Given the description of an element on the screen output the (x, y) to click on. 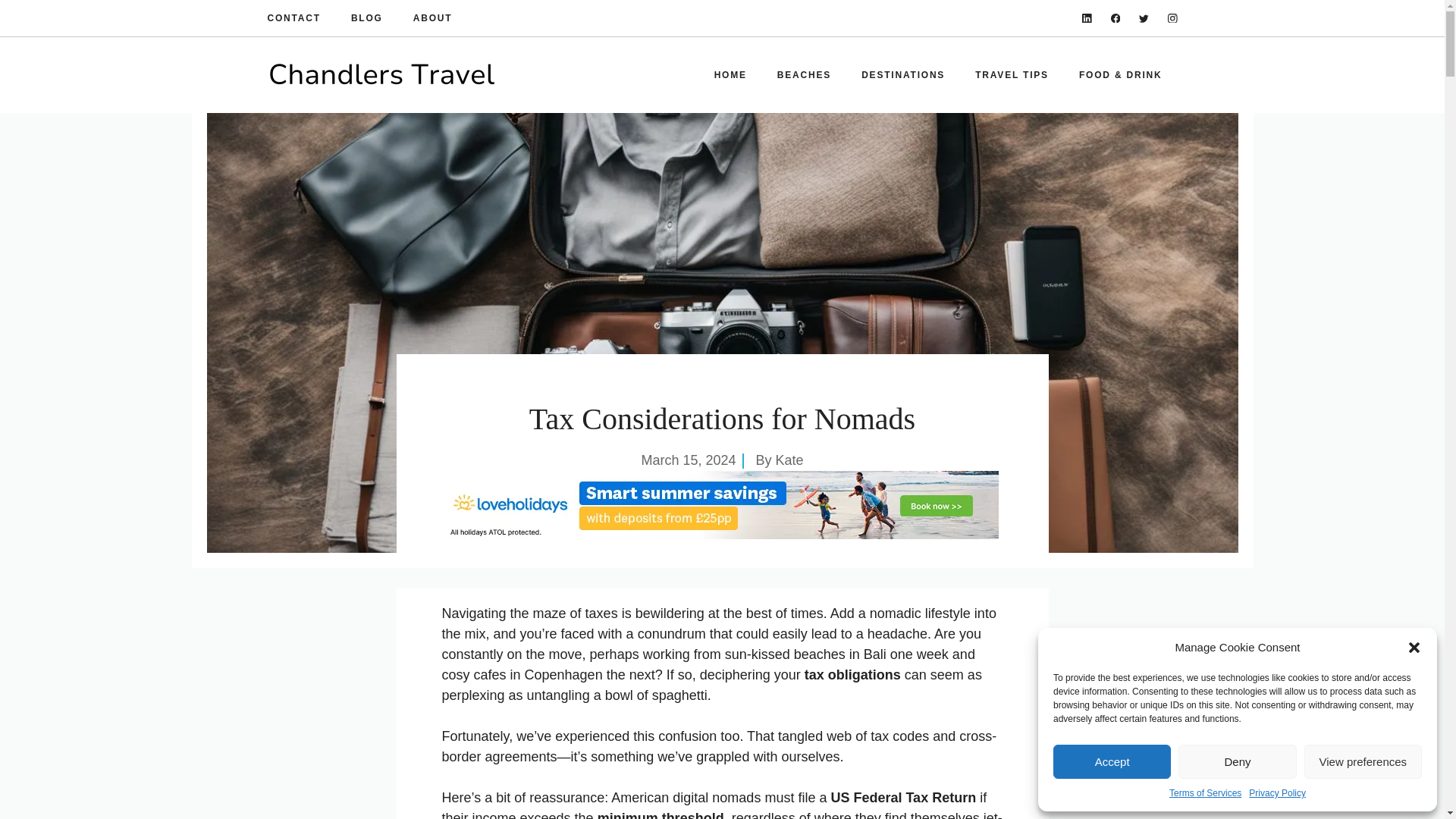
ABOUT (432, 18)
View preferences (1363, 761)
CONTACT (293, 18)
Accept (1111, 761)
Privacy Policy (1277, 793)
Deny (1236, 761)
BEACHES (803, 74)
TRAVEL TIPS (1011, 74)
DESTINATIONS (902, 74)
Kate (789, 459)
Terms of Services (1205, 793)
BLOG (366, 18)
HOME (729, 74)
